Given the description of an element on the screen output the (x, y) to click on. 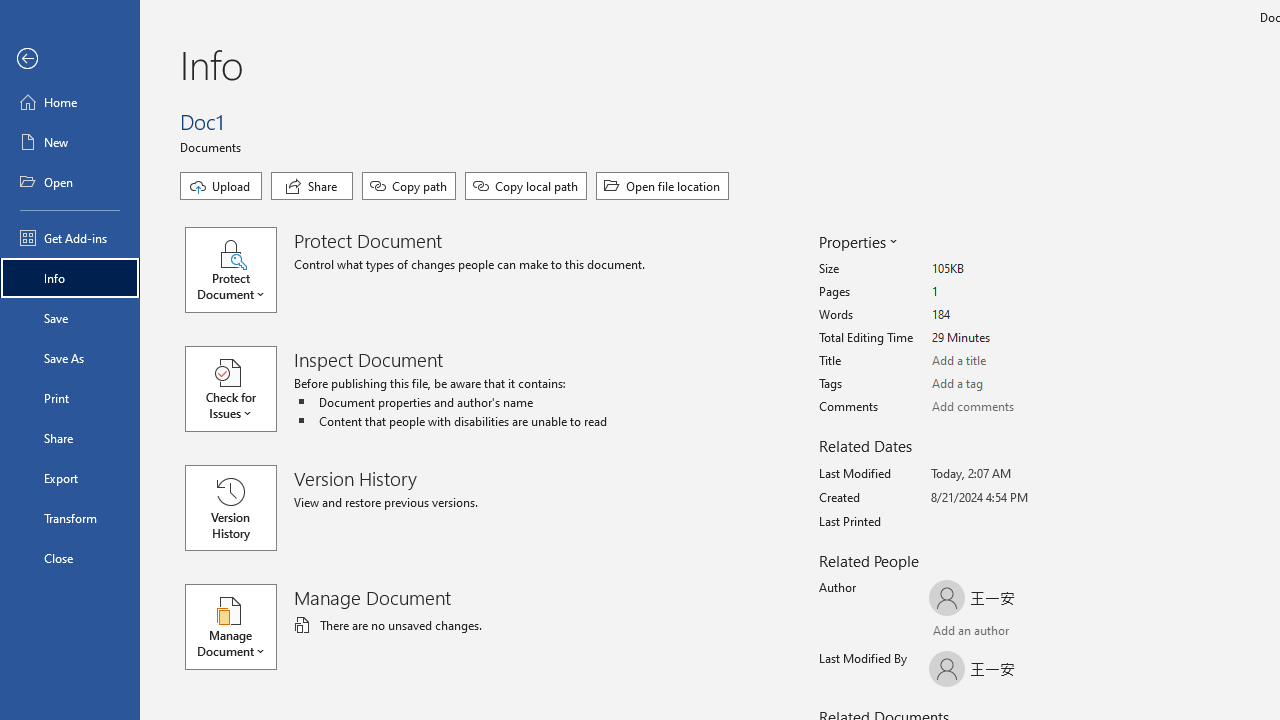
Total Editing Time (1006, 338)
Size (1006, 269)
Export (69, 477)
Print (69, 398)
Transform (69, 517)
Verify Names (983, 632)
